Given the description of an element on the screen output the (x, y) to click on. 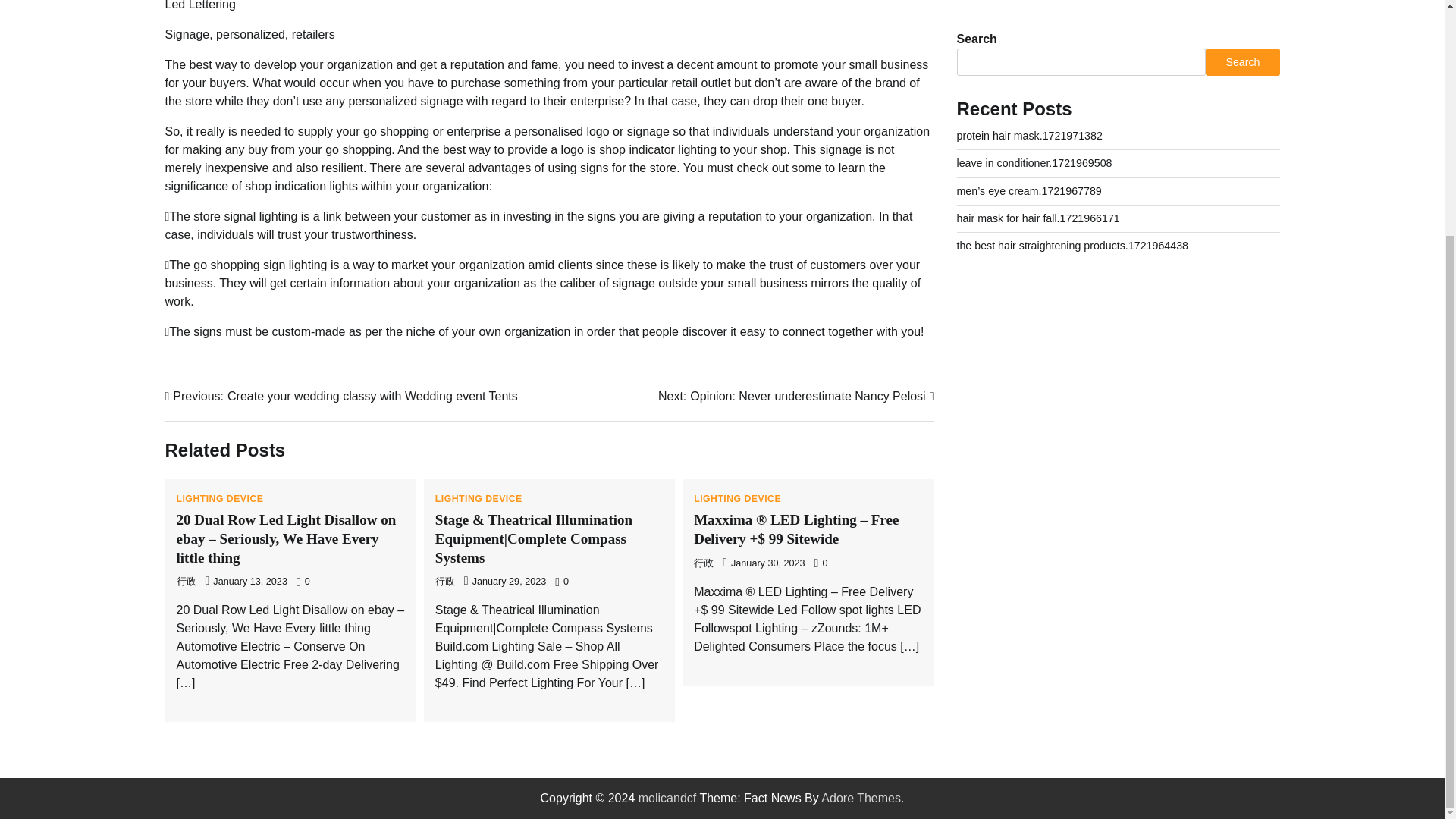
LIGHTING DEVICE (478, 498)
LIGHTING DEVICE (737, 498)
hair mask for hair fall.1721966171 (1037, 41)
Adore Themes (861, 797)
LIGHTING DEVICE (219, 498)
the best hair straightening products.1721964438 (796, 396)
molicandcf (1072, 69)
